Given the description of an element on the screen output the (x, y) to click on. 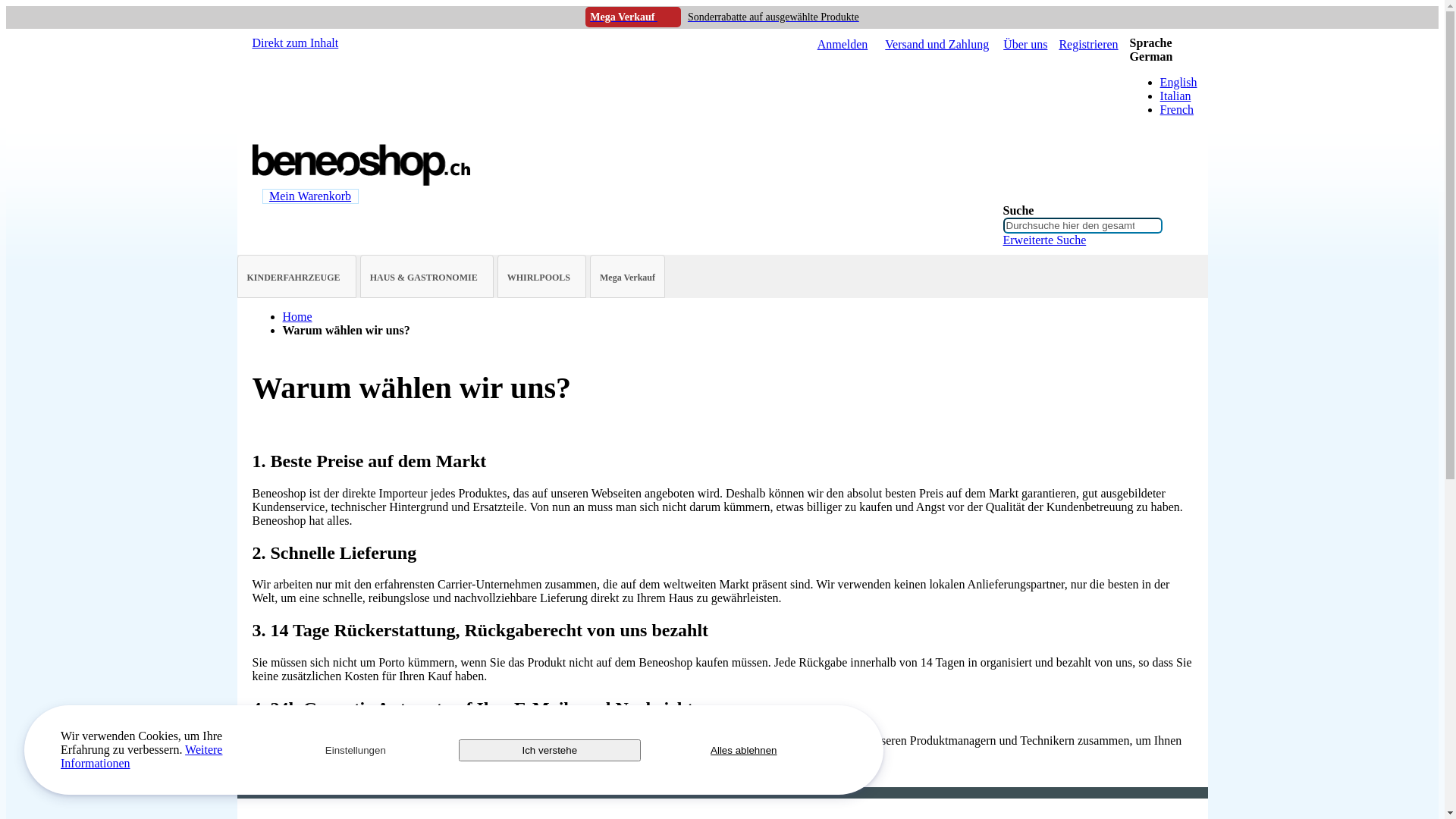
English Element type: text (1178, 81)
Anmelden Element type: text (842, 44)
Italian Element type: text (1175, 95)
French Element type: text (1176, 109)
Mein Warenkorb Element type: text (310, 195)
Direkt zum Inhalt Element type: text (294, 42)
Alles ablehnen Element type: text (743, 749)
BeneoShop.ch Element type: hover (361, 181)
Registrieren Element type: text (1087, 44)
Erweiterte Suche Element type: text (1043, 239)
Home Element type: text (296, 316)
WHIRLPOOLS Element type: text (541, 277)
Suche Element type: text (1176, 215)
Ich verstehe Element type: text (549, 749)
Weitere Informationen Element type: text (141, 756)
Mega Verkauf Element type: text (627, 277)
Versand und Zahlung Element type: text (936, 44)
Einstellungen Element type: text (355, 749)
KINDERFAHRZEUGE Element type: text (296, 277)
HAUS & GASTRONOMIE Element type: text (426, 277)
